Given the description of an element on the screen output the (x, y) to click on. 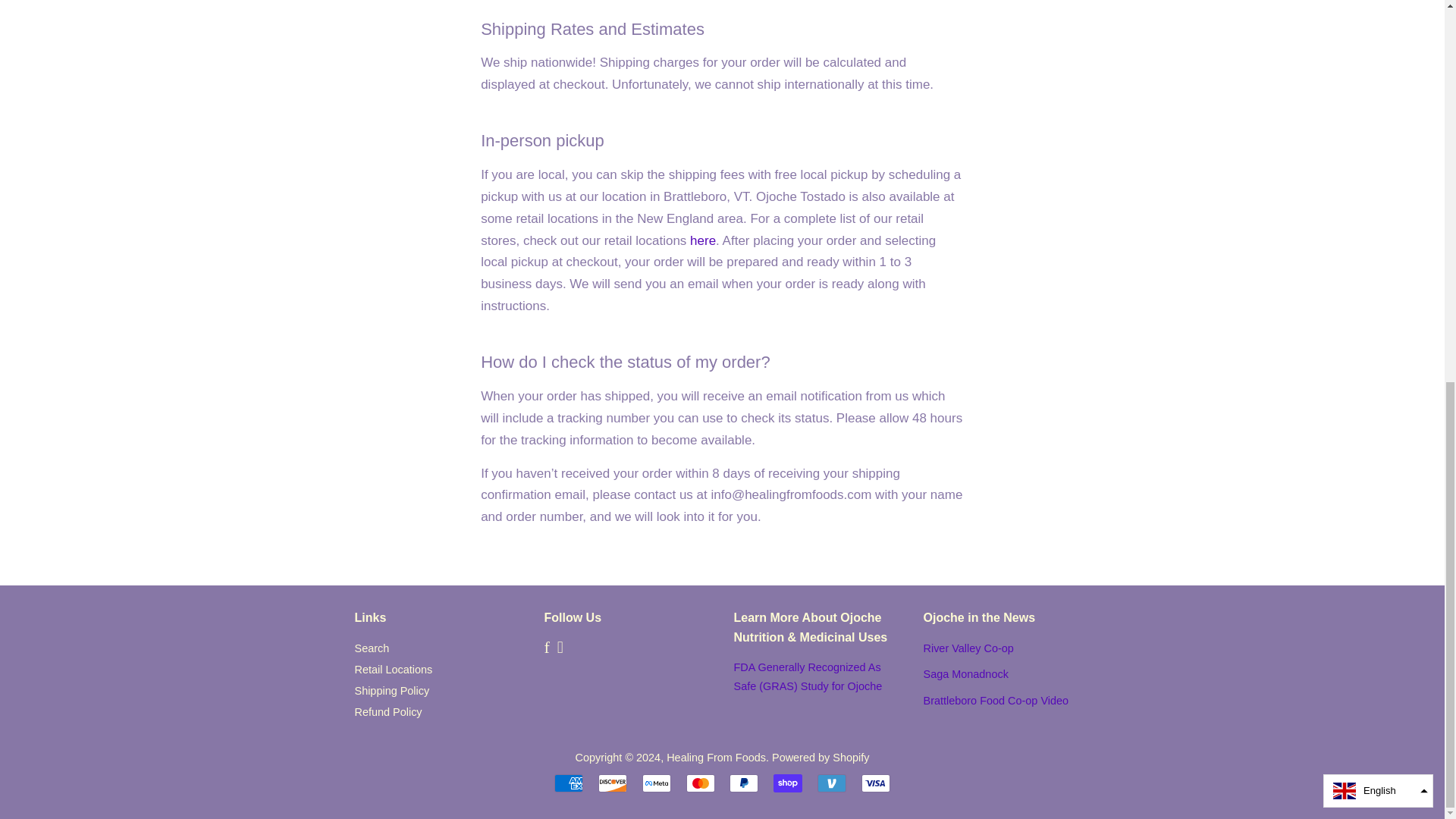
Discover (612, 782)
PayPal (743, 782)
retail locations (703, 240)
American Express (568, 782)
Shop Pay (787, 782)
Visa (875, 782)
Mastercard (699, 782)
Venmo (830, 782)
Meta Pay (656, 782)
